Given the description of an element on the screen output the (x, y) to click on. 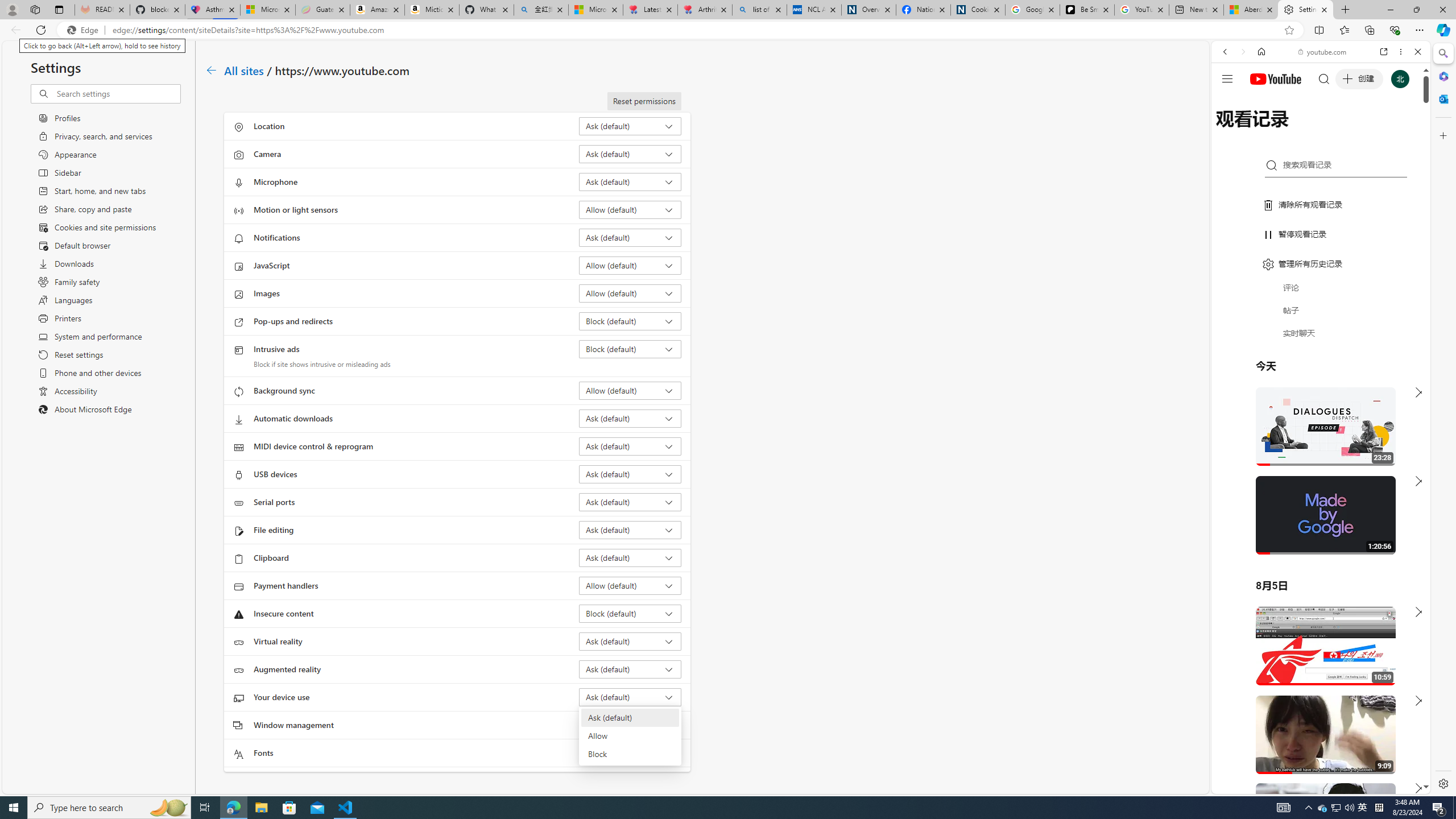
NCL Adult Asthma Inhaler Choice Guideline (813, 9)
Reset permissions (644, 100)
Pop-ups and redirects Block (default) (630, 321)
Intrusive ads Block (default) (630, 348)
you (1315, 755)
JavaScript Allow (default) (630, 265)
Side bar (1443, 418)
